Given the description of an element on the screen output the (x, y) to click on. 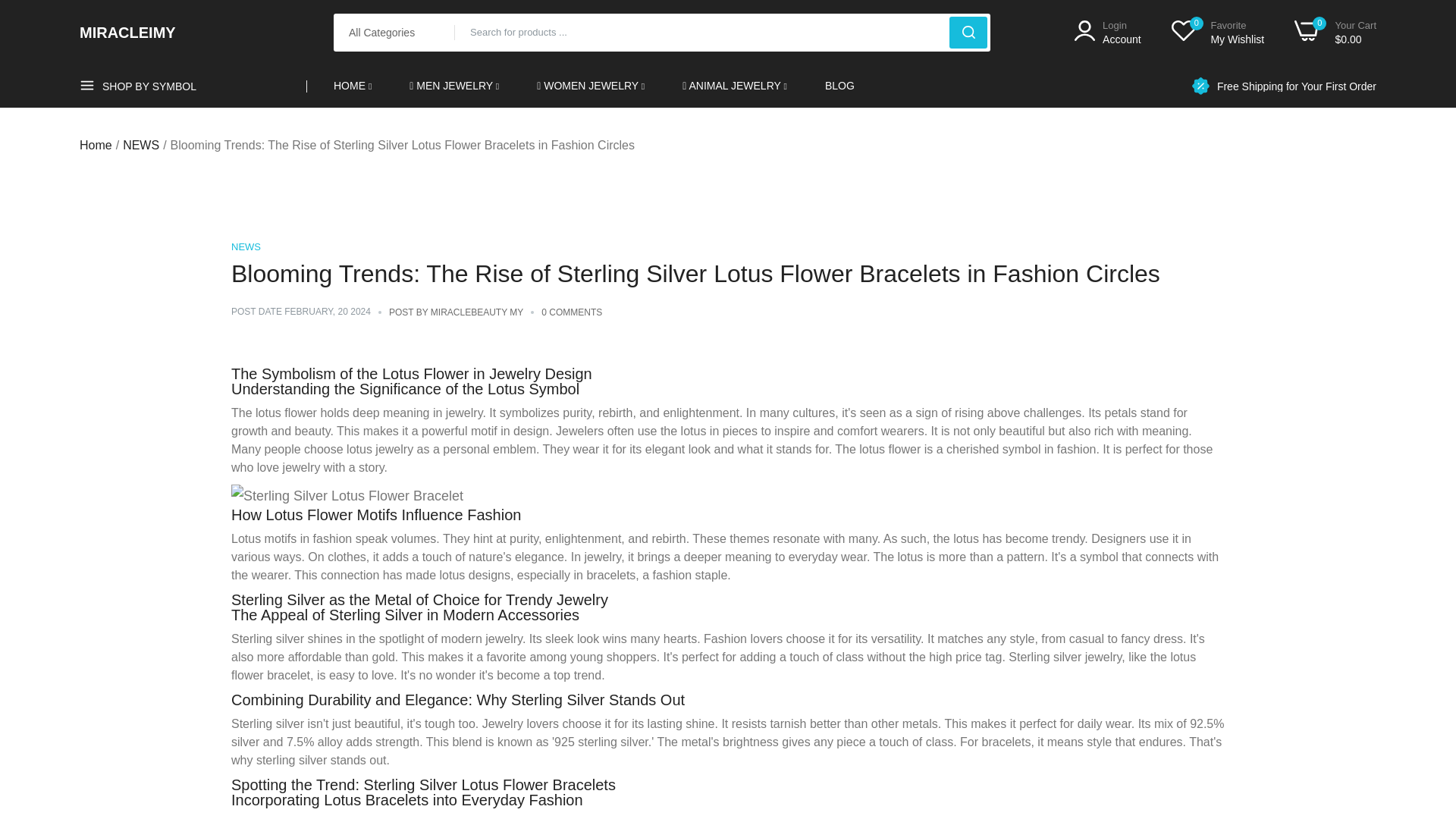
My Wishlist (1107, 31)
Home (1218, 31)
Your Cart (96, 145)
ANIMAL JEWELRY (1334, 31)
WOMEN JEWELRY (1296, 85)
Login (591, 86)
ANIMAL JEWELRY (1107, 31)
